Given the description of an element on the screen output the (x, y) to click on. 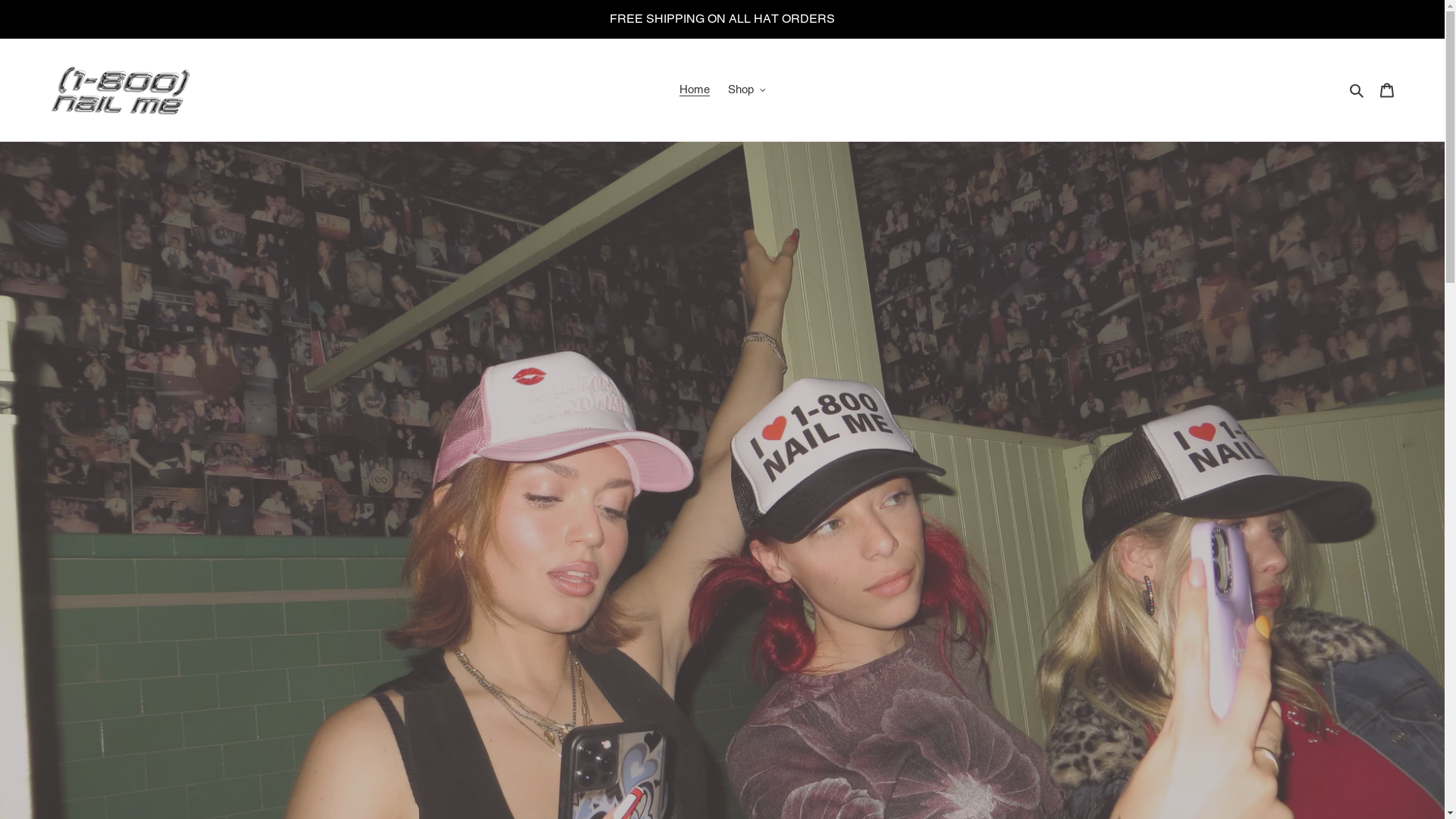
SHOP NOW Element type: text (721, 613)
Shop Element type: text (746, 89)
Cart Element type: text (1386, 89)
Home Element type: text (694, 89)
Search Element type: text (1357, 89)
